Given the description of an element on the screen output the (x, y) to click on. 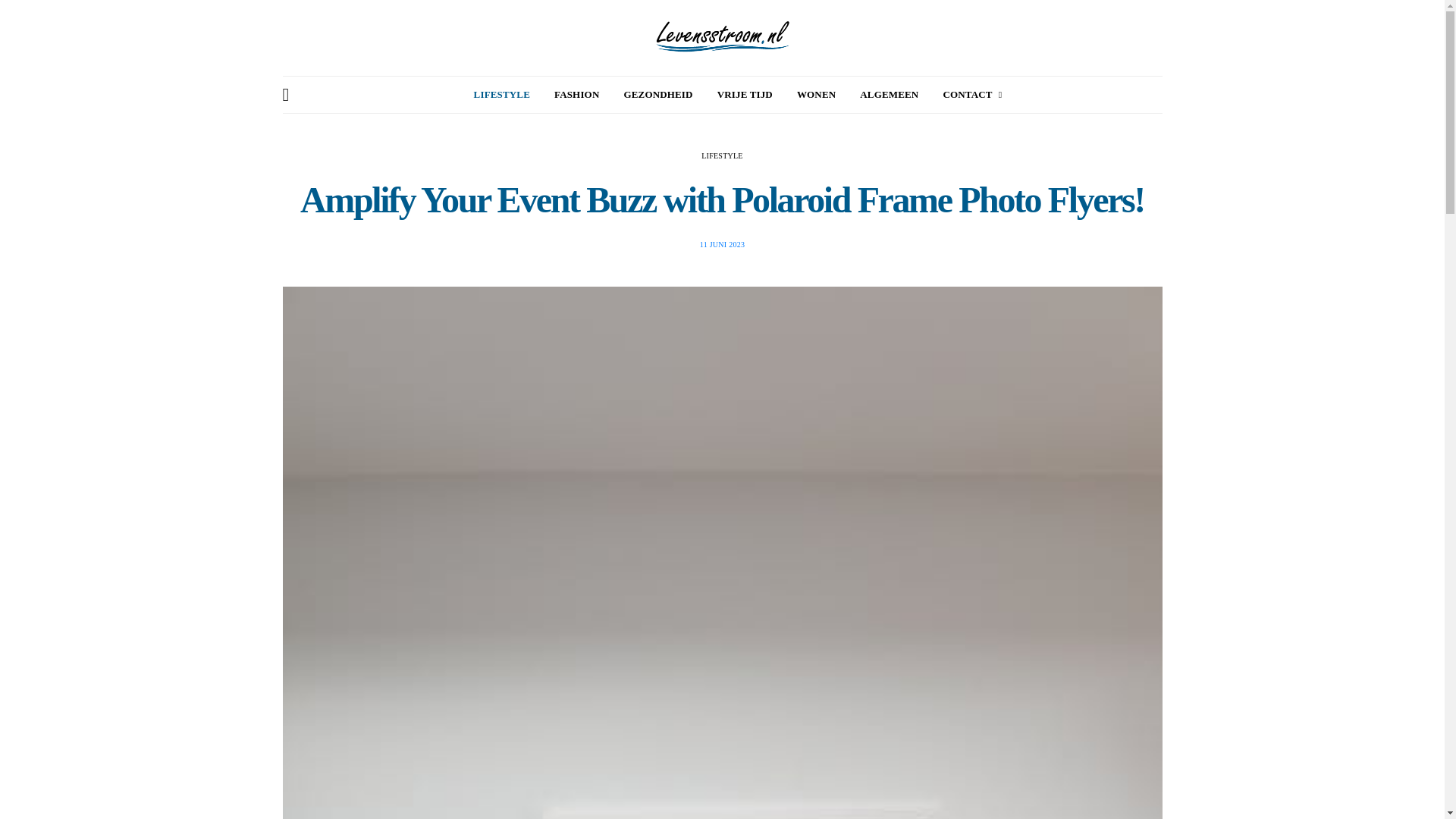
CONTACT (971, 94)
LIFESTYLE (501, 94)
WONEN (815, 94)
GEZONDHEID (658, 94)
11 JUNI 2023 (722, 244)
VRIJE TIJD (745, 94)
LIFESTYLE (721, 155)
ALGEMEEN (889, 94)
FASHION (576, 94)
